Given the description of an element on the screen output the (x, y) to click on. 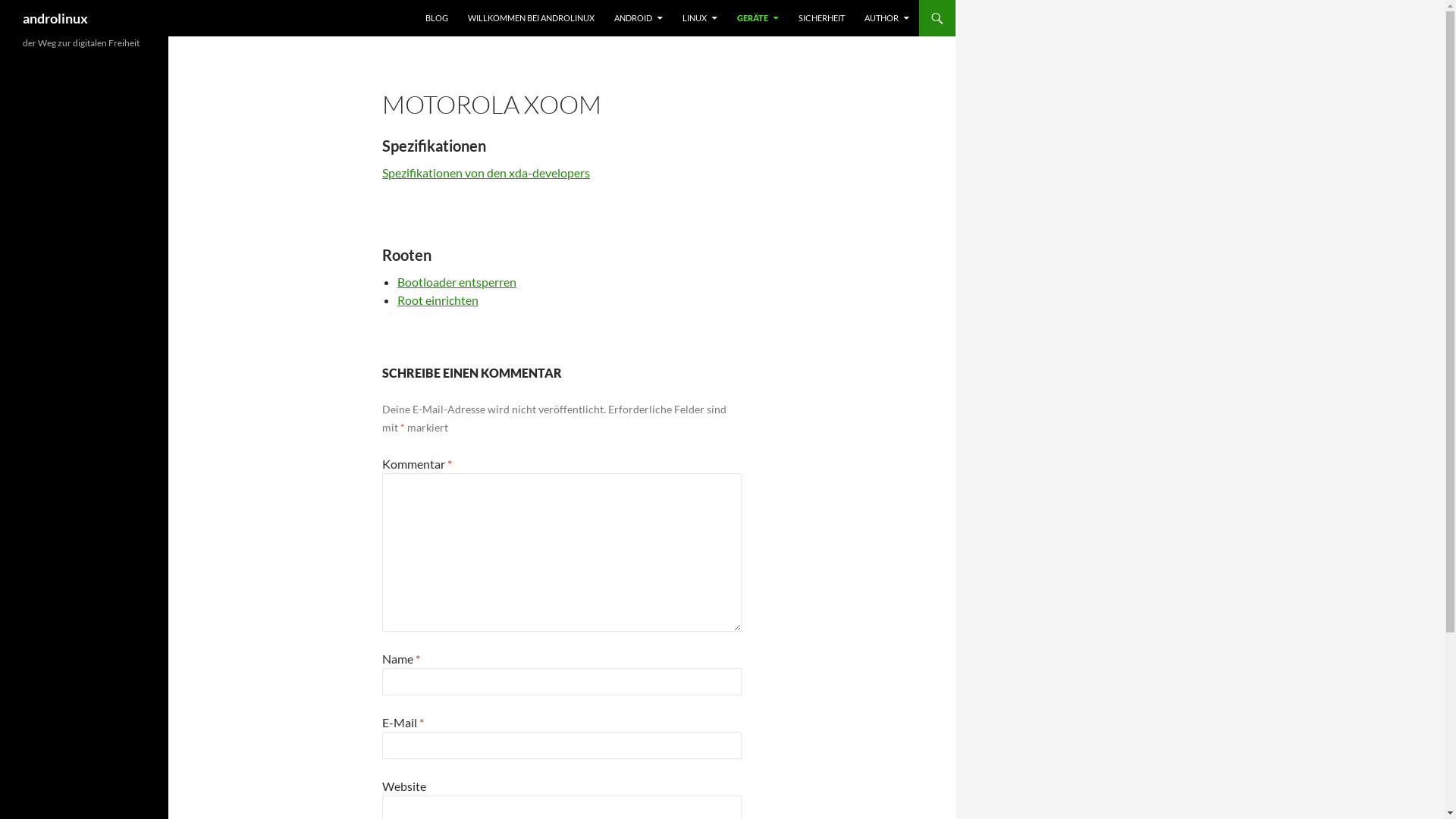
Spezifikationen von den xda-developers Element type: text (485, 172)
SICHERHEIT Element type: text (821, 18)
Bootloader entsperren Element type: text (456, 281)
ANDROID Element type: text (638, 18)
Root einrichten Element type: text (437, 299)
LINUX Element type: text (699, 18)
BLOG Element type: text (436, 18)
WILLKOMMEN BEI ANDROLINUX Element type: text (530, 18)
AUTHOR Element type: text (886, 18)
androlinux Element type: text (54, 18)
